Given the description of an element on the screen output the (x, y) to click on. 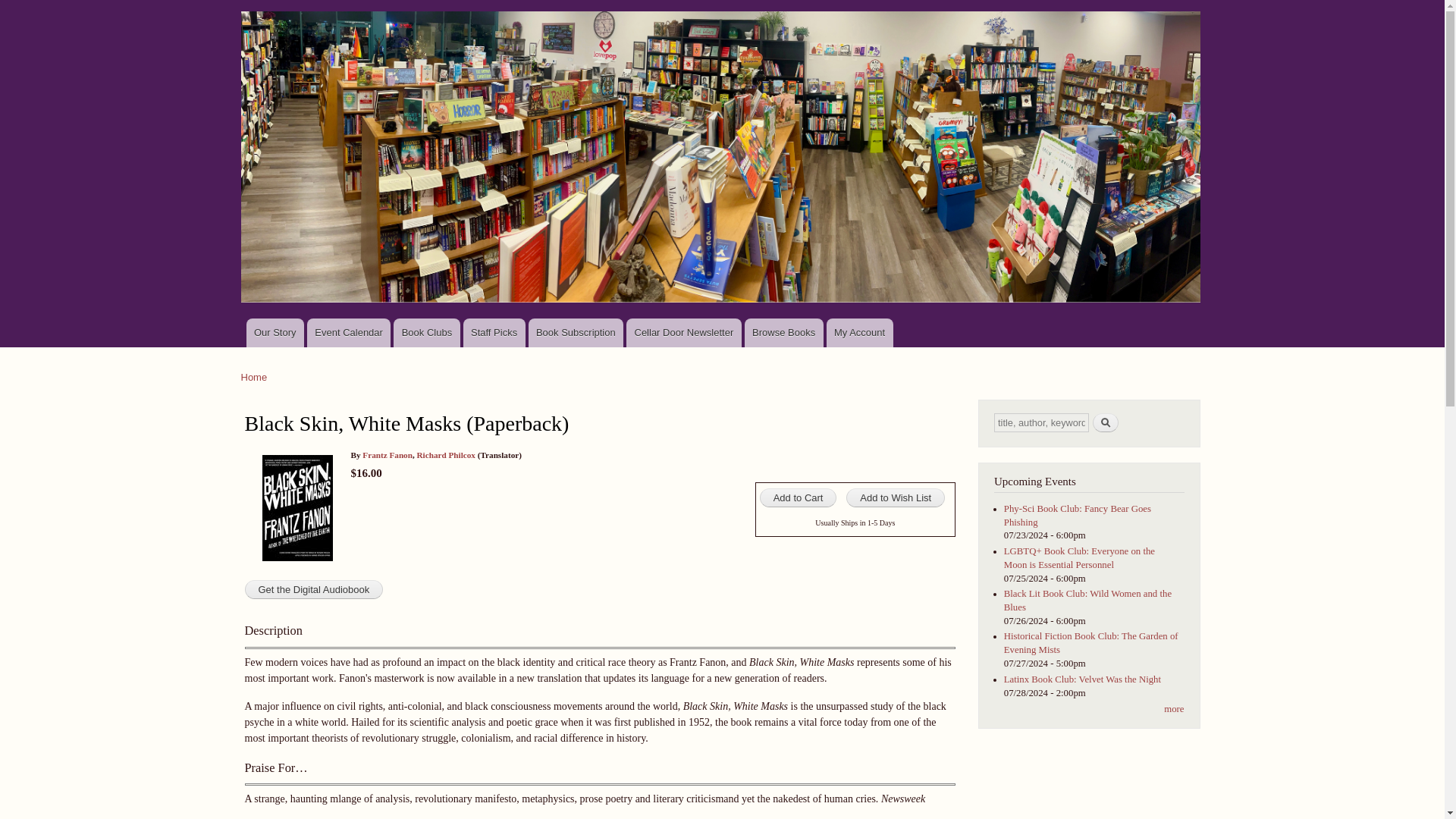
Richard Philcox (446, 454)
Staff Picks (494, 332)
Event Calendar (348, 332)
Search (1105, 422)
Phy-Sci Book Club: Fancy Bear Goes Phishing (1077, 515)
Book Subscription (576, 332)
Our Story (274, 332)
Historical Fiction Book Club: The Garden of Evening Mists (1090, 642)
Home (254, 377)
Book Clubs (426, 332)
Cellar Door Staff Picks (494, 332)
Add to Cart (798, 497)
Frantz Fanon (387, 454)
Cellar Door Book Subscription (576, 332)
Browse Books (784, 332)
